Given the description of an element on the screen output the (x, y) to click on. 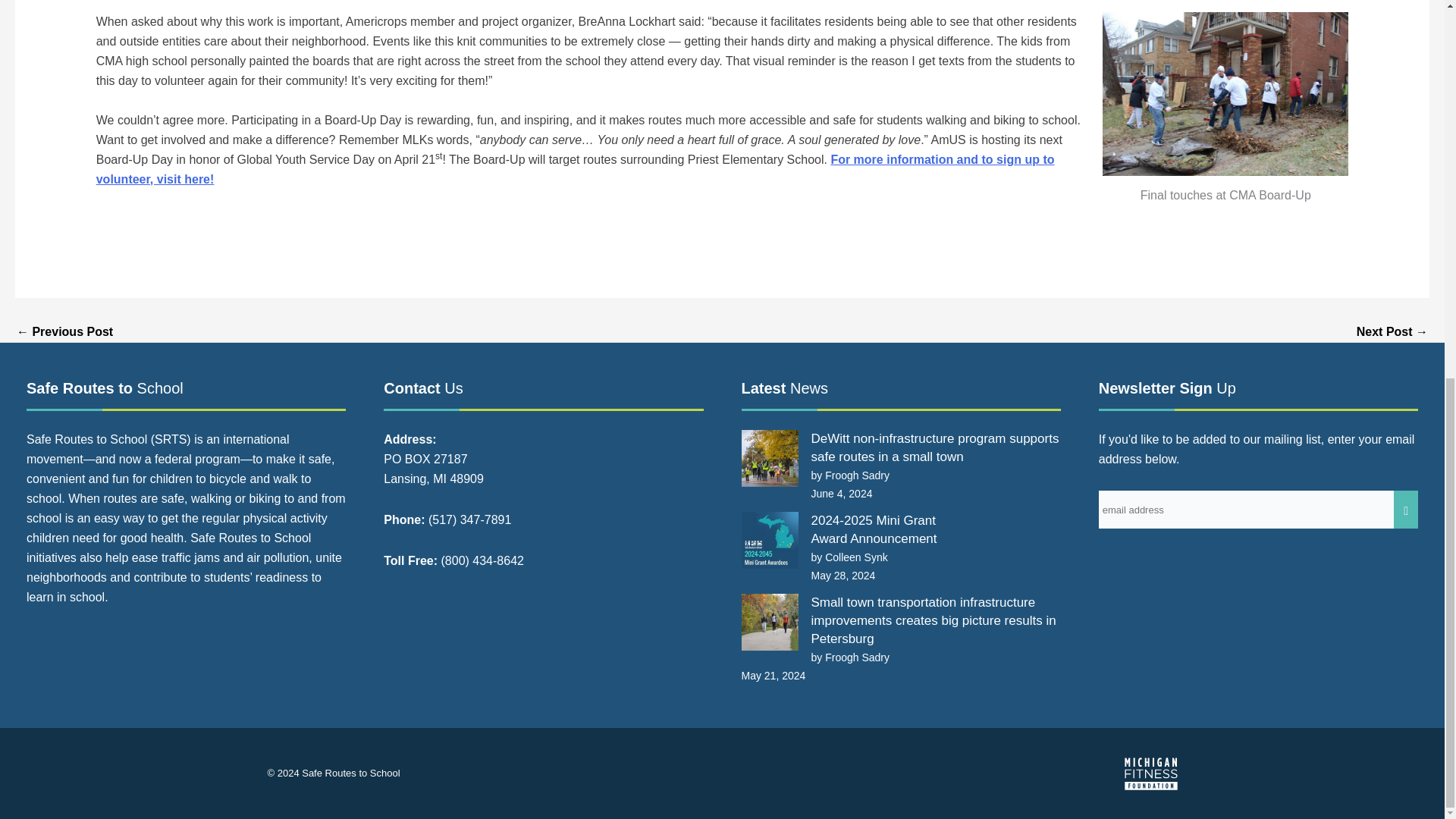
Register for Free 2017 Regional Trainings (1392, 331)
SRTS Welcomes Gerena Walker! (64, 331)
